Given the description of an element on the screen output the (x, y) to click on. 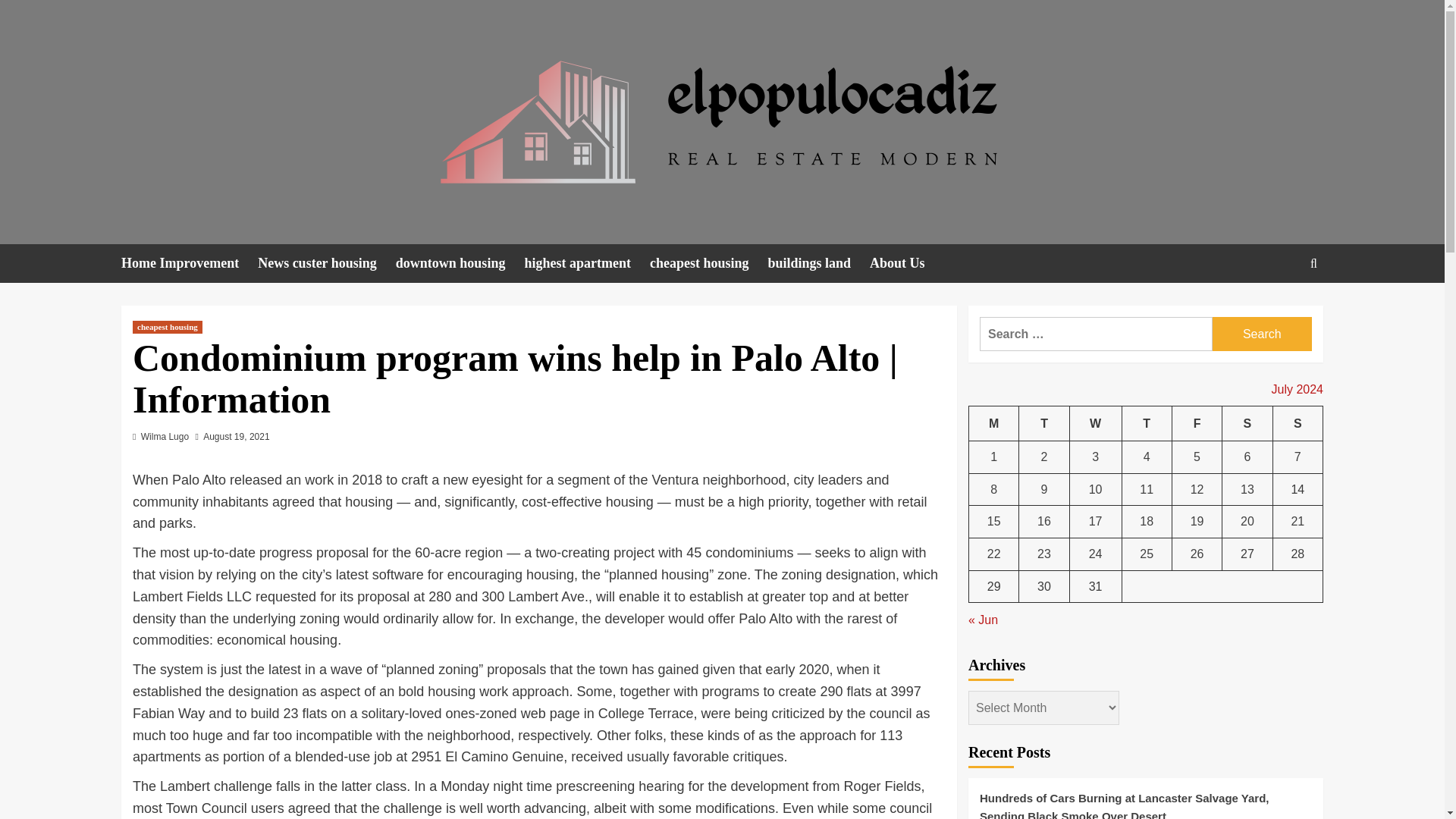
August 19, 2021 (236, 436)
Monday (994, 423)
News custer housing (326, 263)
Search (1313, 263)
Friday (1196, 423)
Search (1278, 309)
Sunday (1297, 423)
buildings land (818, 263)
Tuesday (1043, 423)
Saturday (1247, 423)
Home Improvement (188, 263)
cheapest housing (167, 327)
About Us (906, 263)
Wednesday (1094, 423)
cheapest housing (708, 263)
